Given the description of an element on the screen output the (x, y) to click on. 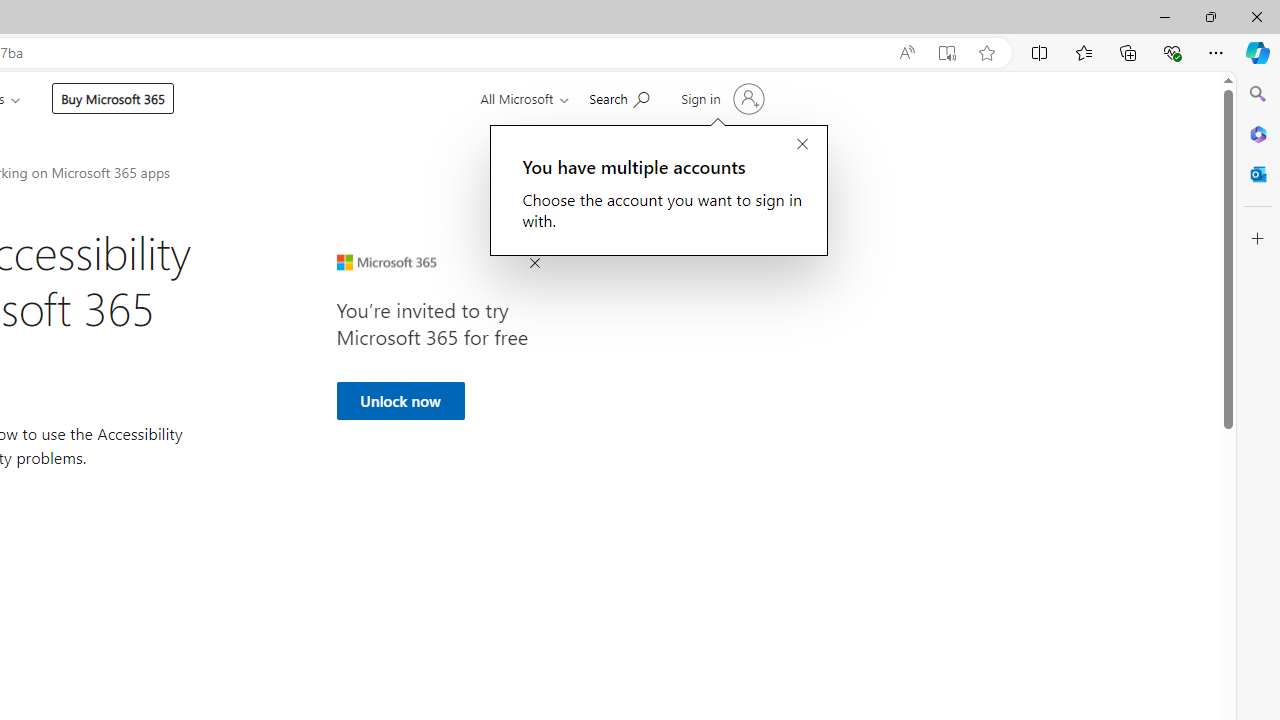
Browser essentials (1171, 52)
Outlook (1258, 174)
Close callout prompt. (802, 145)
Microsoft 365 (1258, 133)
Add this page to favorites (Ctrl+D) (986, 53)
Customize (1258, 239)
Favorites (1083, 52)
